Given the description of an element on the screen output the (x, y) to click on. 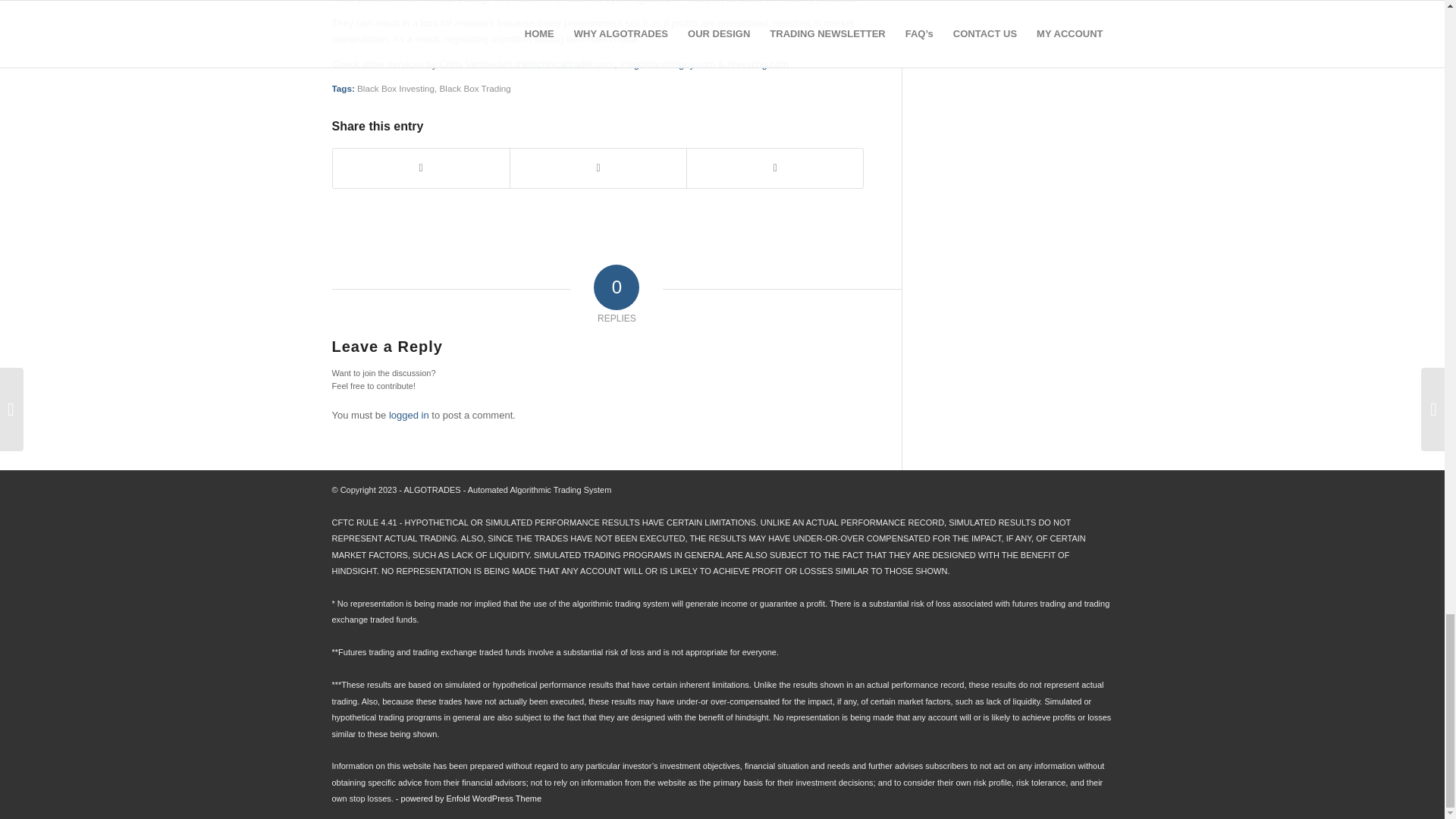
Black Box Trading (475, 88)
thegoldandoilguy.com (668, 63)
thetechnicaltrader.com (564, 63)
powered by Enfold WordPress Theme (471, 798)
logged in (408, 414)
revesting.com (757, 63)
Black Box Investing (394, 88)
